Given the description of an element on the screen output the (x, y) to click on. 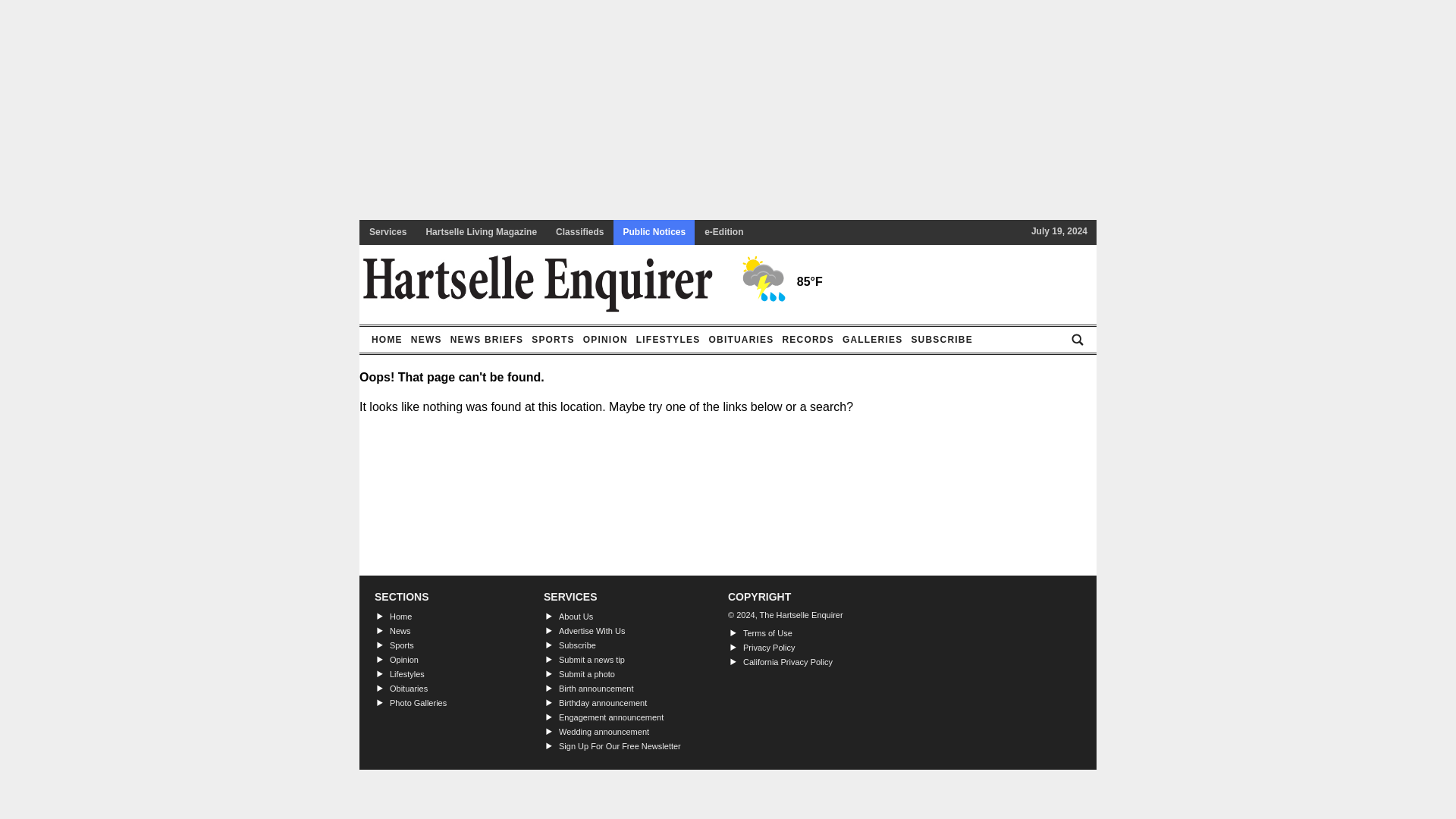
3rd party ad content (727, 170)
e-Edition (723, 232)
Public Notices (653, 232)
Classifieds (579, 232)
Hartselle Living Magazine (481, 232)
Services (386, 232)
